Given the description of an element on the screen output the (x, y) to click on. 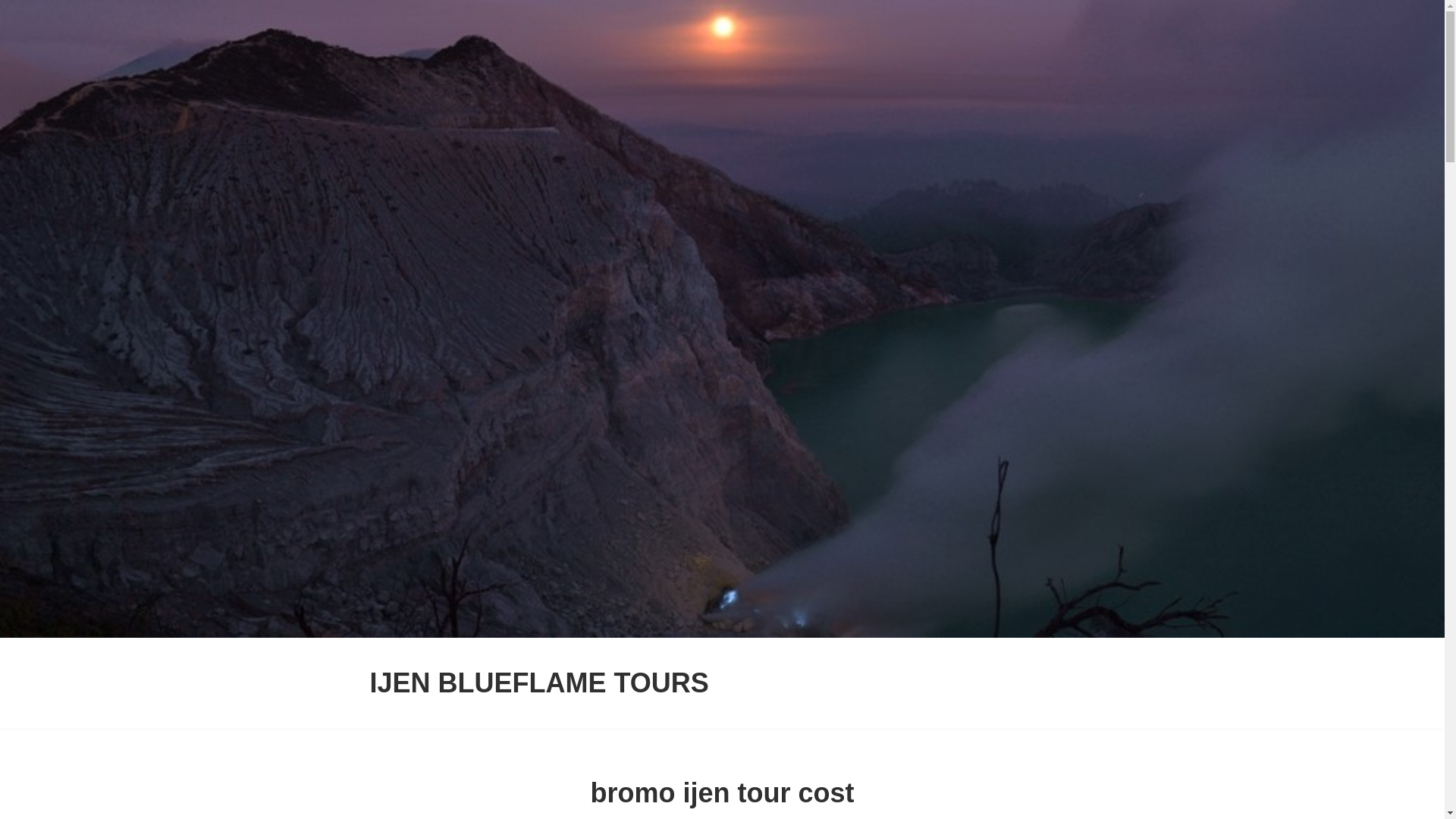
IJEN BLUEFLAME TOURS (539, 683)
